Given the description of an element on the screen output the (x, y) to click on. 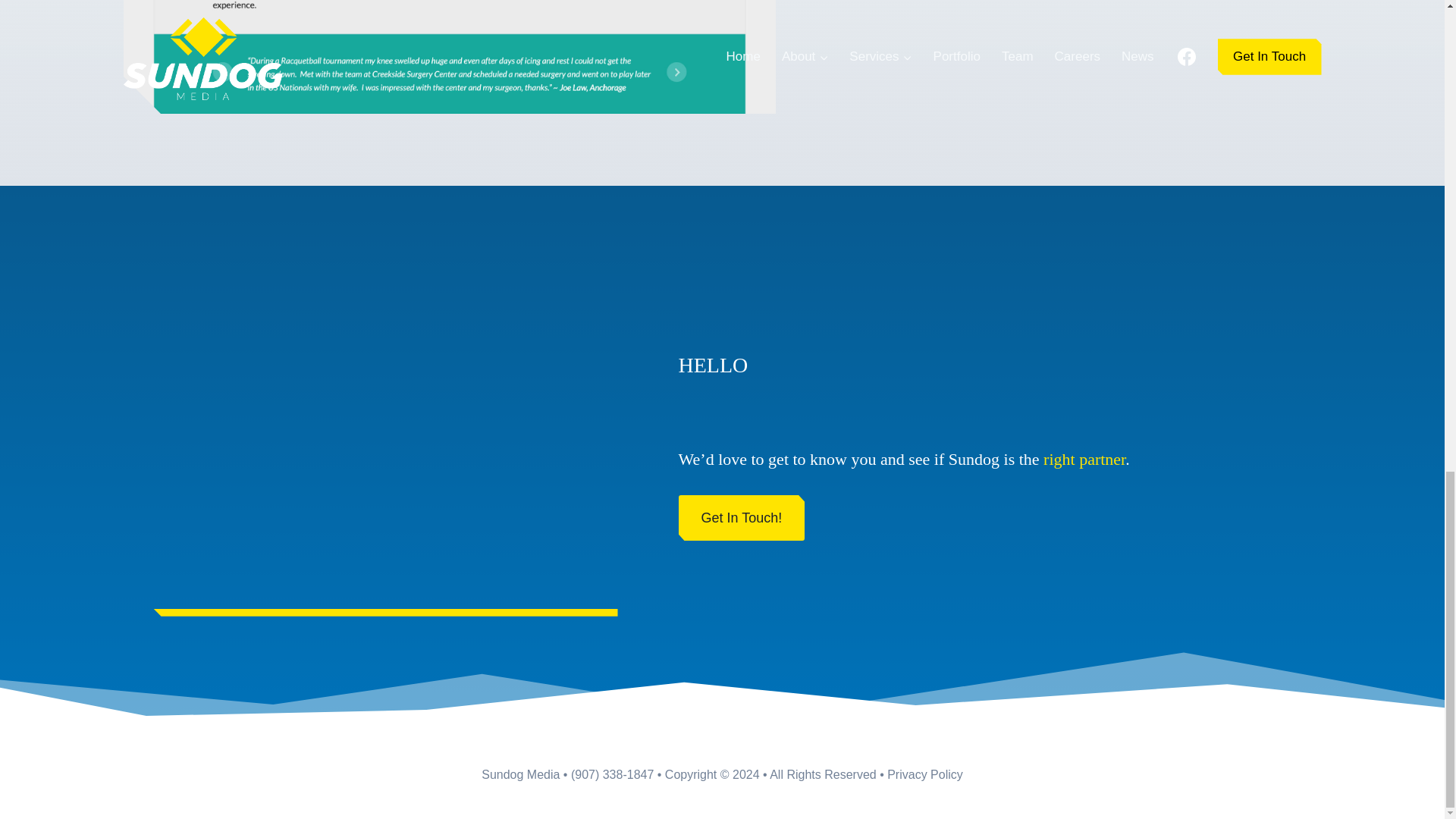
Sundog Media (520, 774)
right partner (1084, 458)
Get In Touch! (741, 518)
Privacy Policy (924, 774)
